Given the description of an element on the screen output the (x, y) to click on. 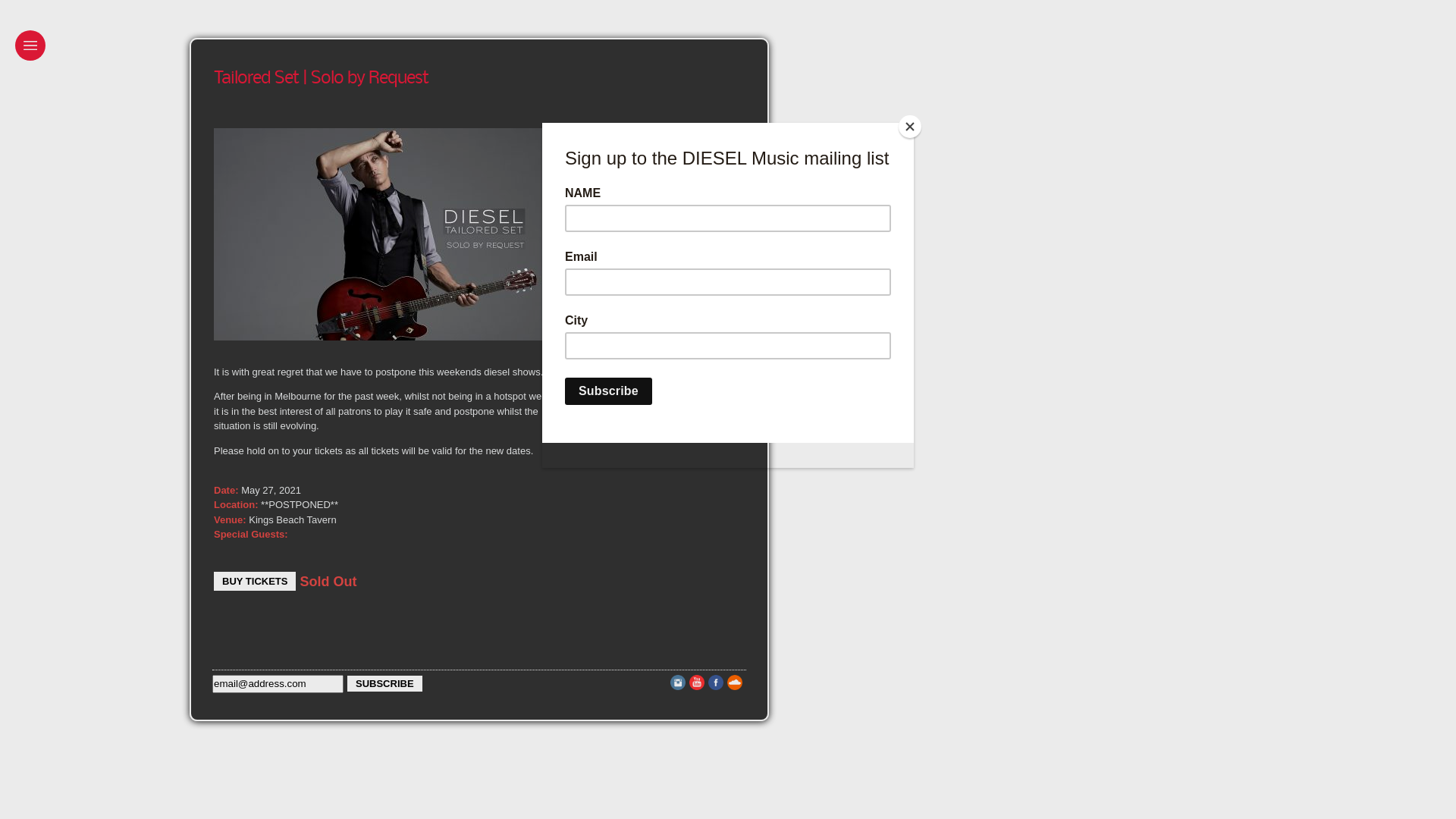
Youtube Element type: hover (696, 686)
Subscribe Element type: text (384, 683)
Soundcloud Element type: hover (734, 686)
Facebook Element type: hover (715, 686)
Click here to Display Main Menu Element type: hover (30, 45)
Tailored Set | Solo by Request Element type: text (320, 78)
Instagram Element type: hover (677, 686)
BUY TICKETS Element type: text (254, 581)
